Given the description of an element on the screen output the (x, y) to click on. 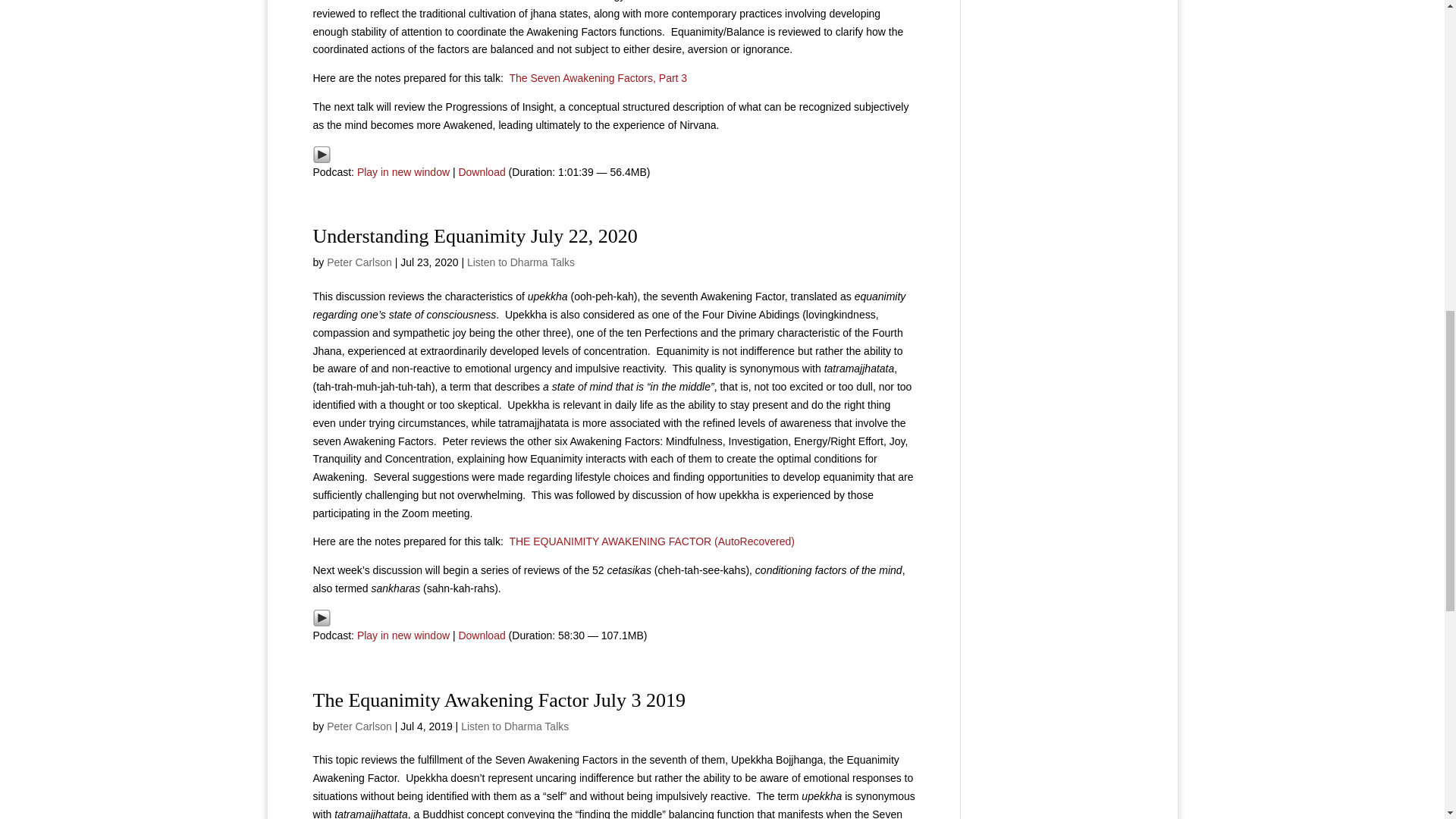
Play (321, 616)
Understanding Equanimity July 22, 2020 (475, 236)
Play (321, 154)
Play (321, 153)
Listen to Dharma Talks (521, 262)
Play (321, 618)
Play in new window (402, 172)
Play in new window (402, 635)
Play in new window (402, 172)
Download (481, 635)
